Given the description of an element on the screen output the (x, y) to click on. 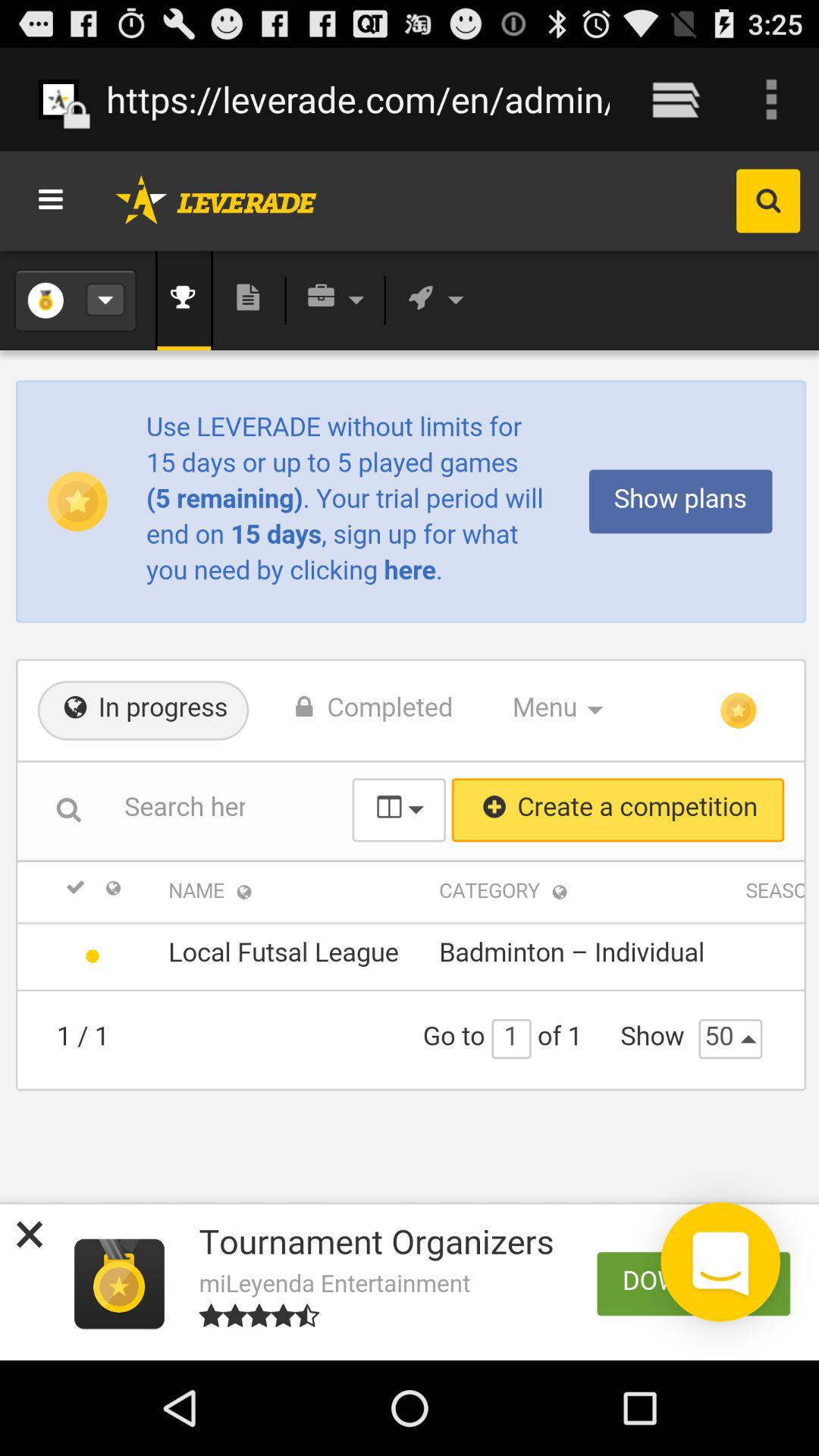
flip until https leverade com (357, 99)
